Given the description of an element on the screen output the (x, y) to click on. 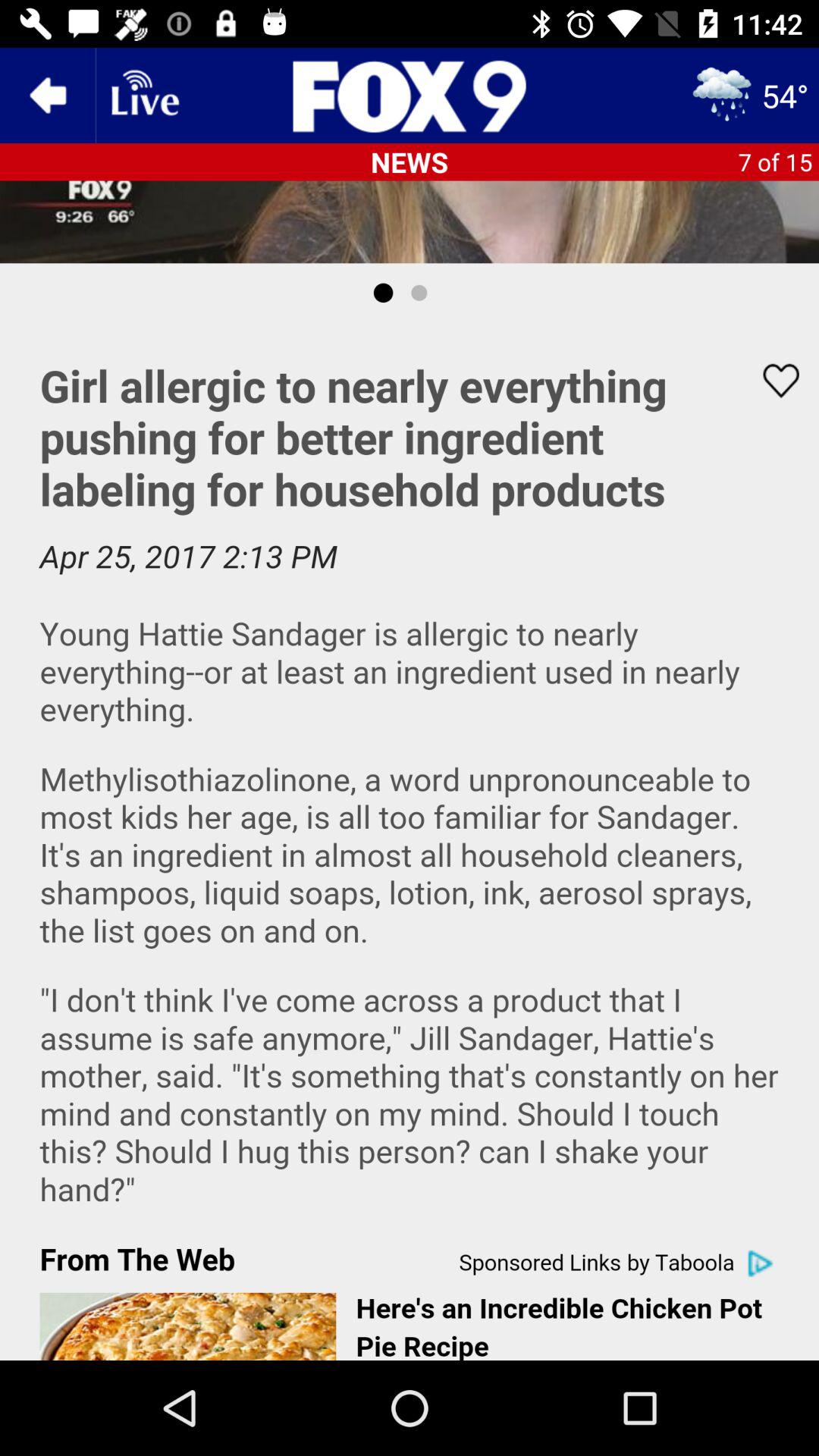
favorite page (771, 380)
